Given the description of an element on the screen output the (x, y) to click on. 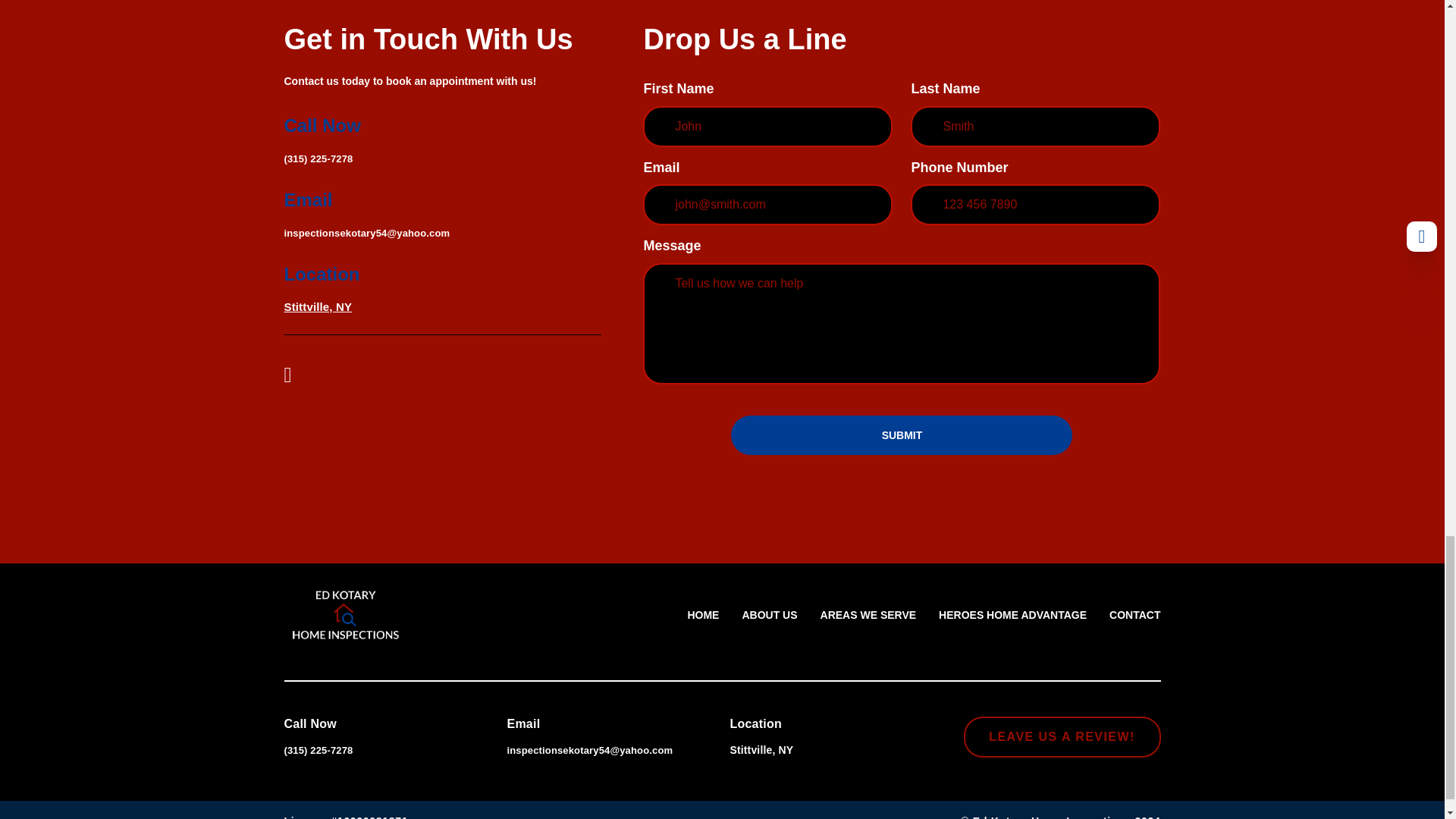
Submit (900, 435)
